Given the description of an element on the screen output the (x, y) to click on. 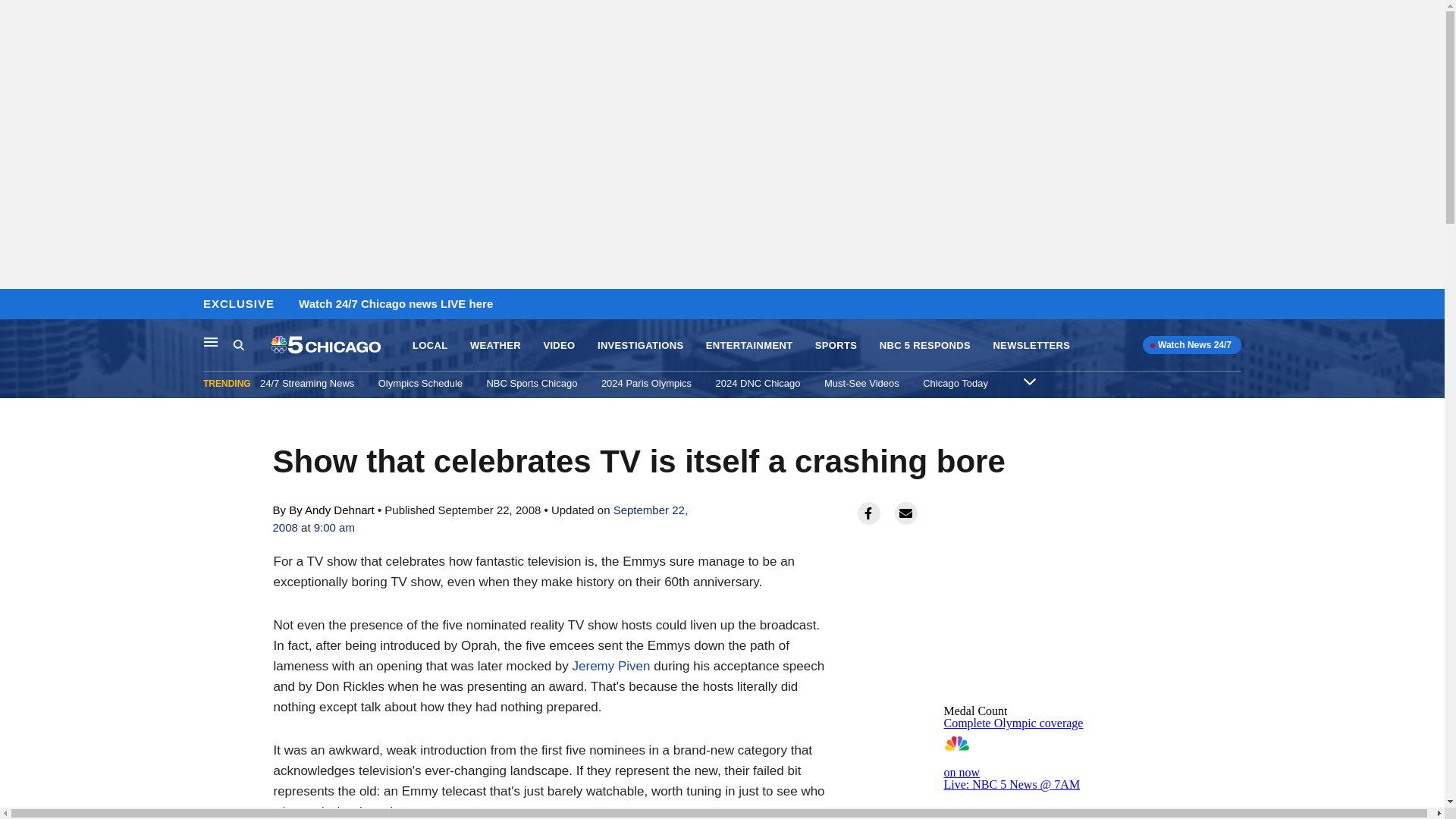
Olympics Schedule (420, 383)
NEWSLETTERS (1031, 345)
Main Navigation (210, 341)
2024 Paris Olympics (646, 383)
SPORTS (836, 345)
Jeremy Piven (611, 666)
NBC 5 RESPONDS (925, 345)
Complete Olympic coverage (1013, 722)
Jeremy Piven (611, 666)
VIDEO (559, 345)
Expand (1029, 381)
NBC Sports Chicago (531, 383)
Search (252, 345)
ENTERTAINMENT (749, 345)
Search (238, 344)
